Given the description of an element on the screen output the (x, y) to click on. 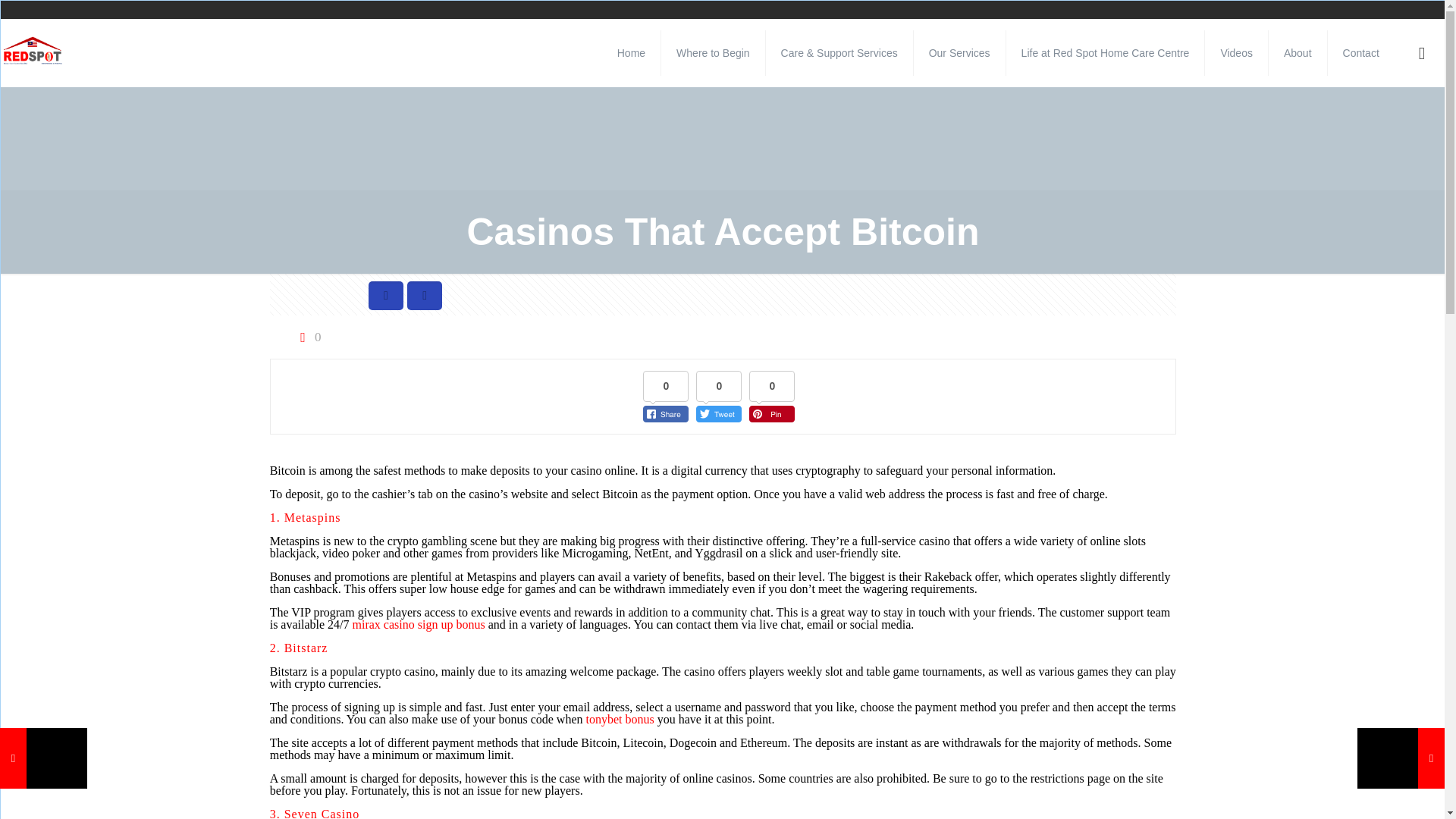
Our Services (960, 52)
Life at Red Spot Home Care Centre (1105, 52)
Red Spot (33, 52)
tonybet bonus (619, 718)
Contact (1360, 52)
mirax casino sign up bonus (418, 624)
Where to Begin (713, 52)
Videos (1236, 52)
0 (307, 336)
